Given the description of an element on the screen output the (x, y) to click on. 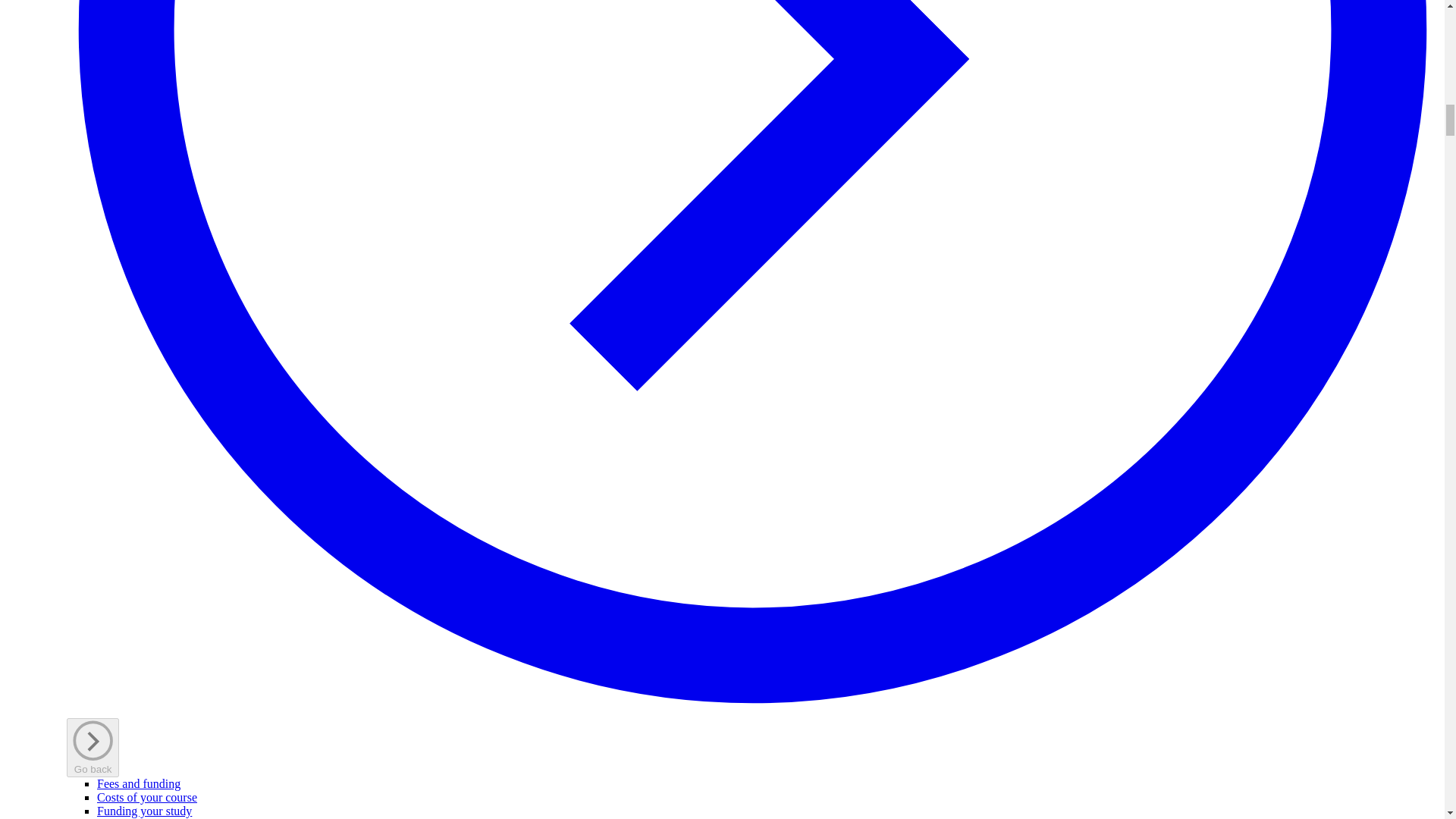
Fees and funding (138, 783)
Funding your study (144, 810)
Costs of your course (146, 797)
Go back (92, 747)
